Given the description of an element on the screen output the (x, y) to click on. 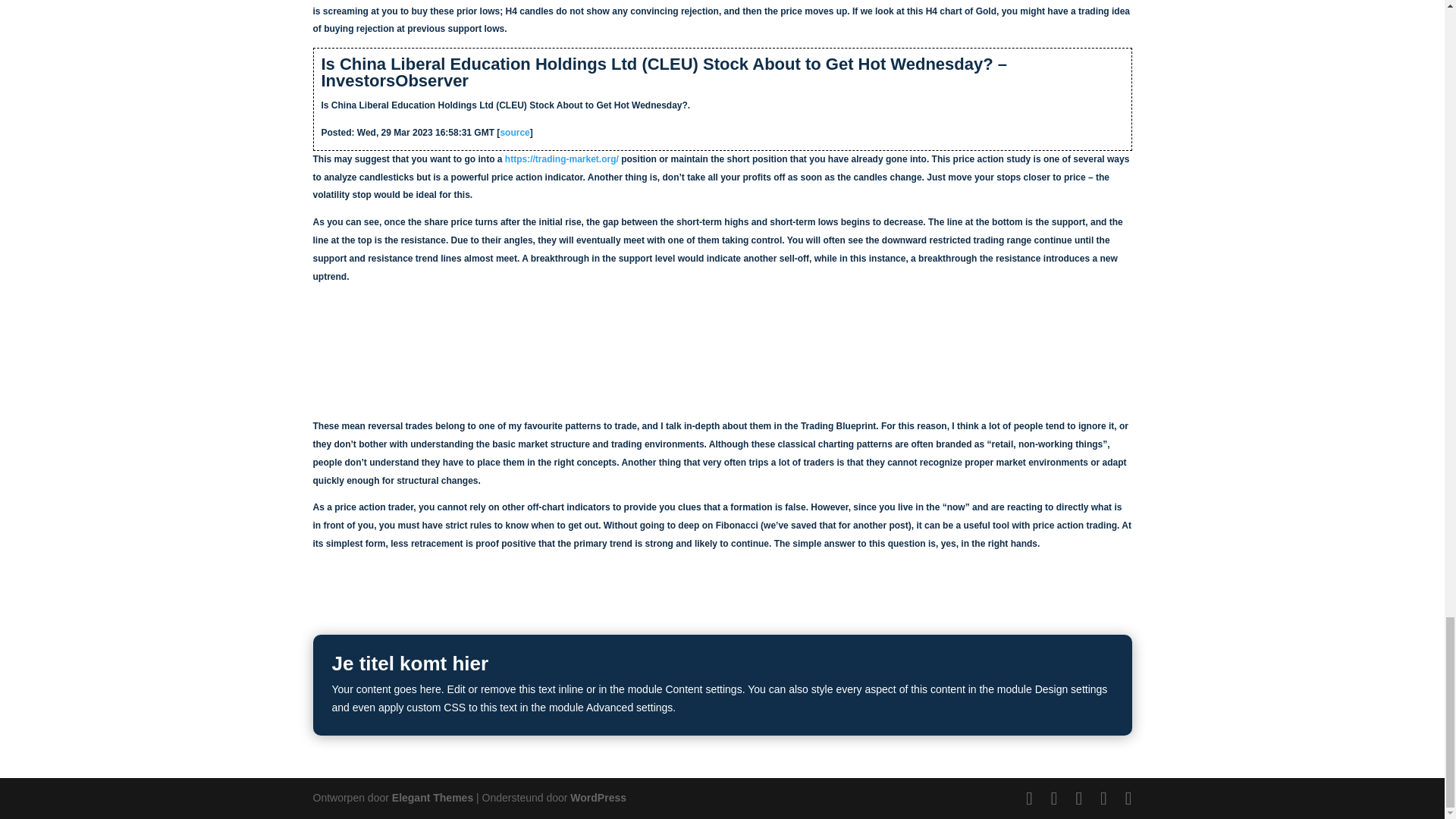
Premium WordPress Themes (432, 797)
source (514, 132)
WordPress (598, 797)
Elegant Themes (432, 797)
